Given the description of an element on the screen output the (x, y) to click on. 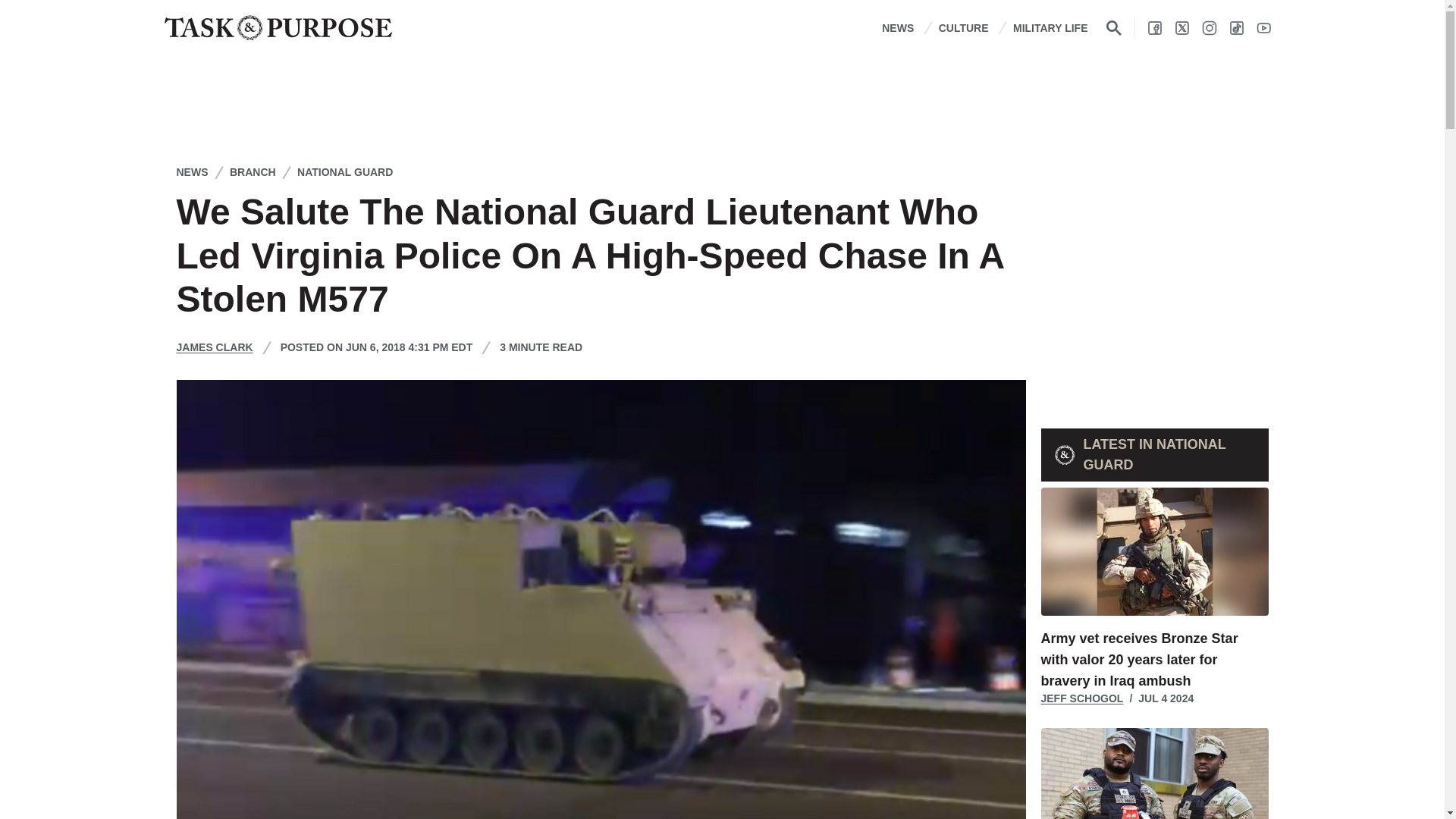
CULTURE (963, 27)
MILITARY LIFE (1050, 27)
NEWS (898, 27)
